Given the description of an element on the screen output the (x, y) to click on. 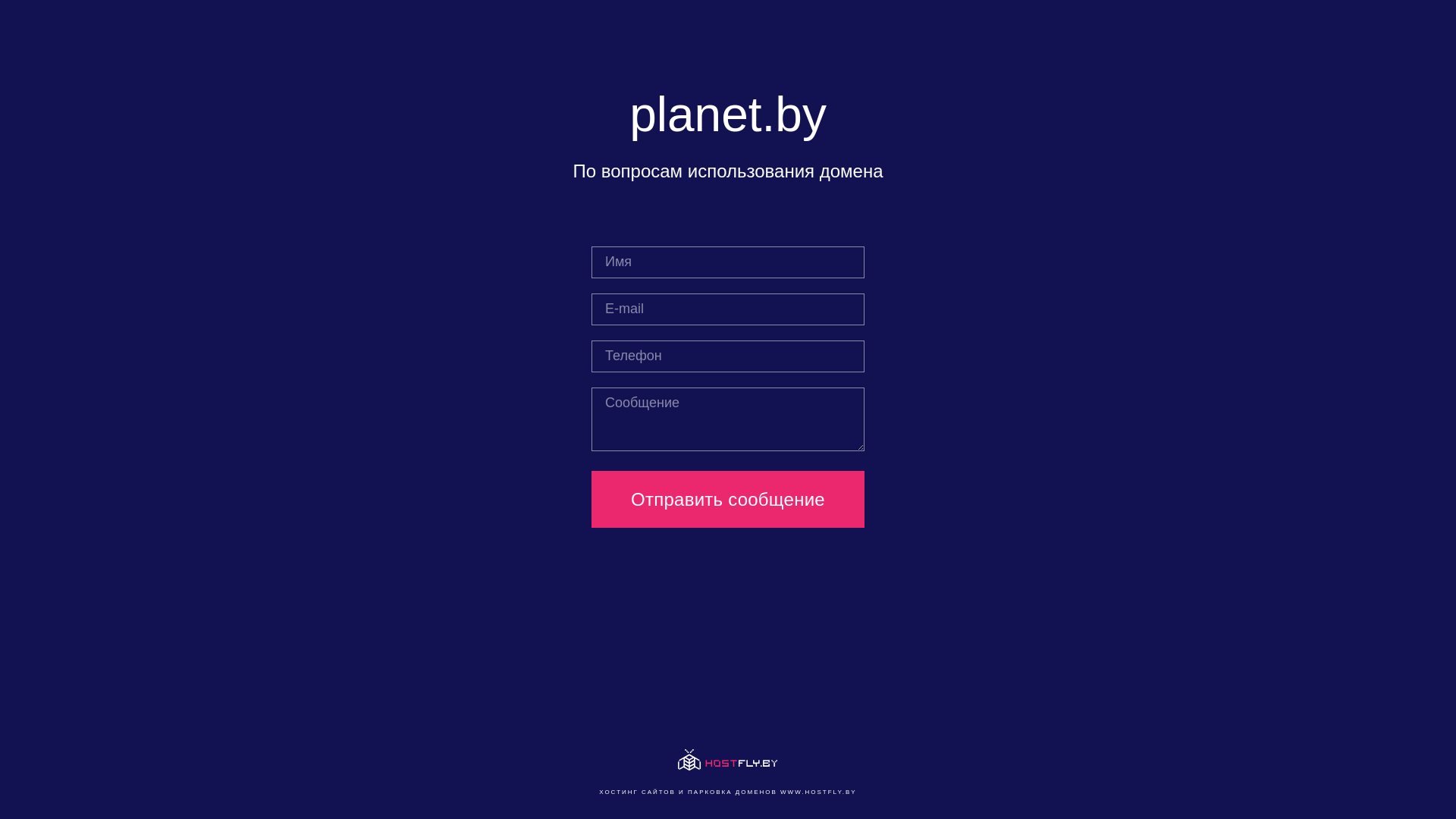
WWW.HOSTFLY.BY Element type: text (818, 791)
